Given the description of an element on the screen output the (x, y) to click on. 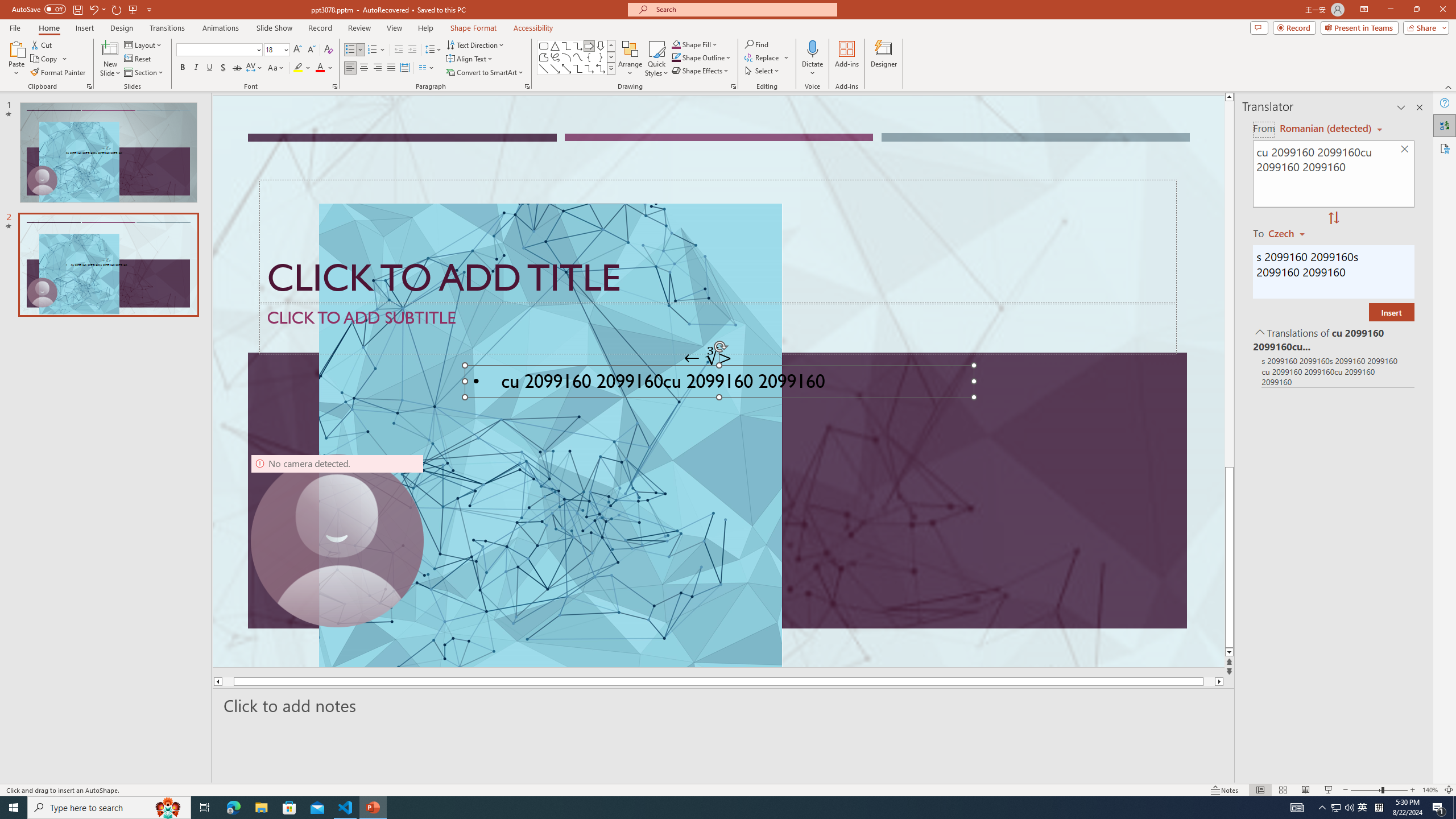
Connector: Elbow Double-Arrow (600, 68)
